Given the description of an element on the screen output the (x, y) to click on. 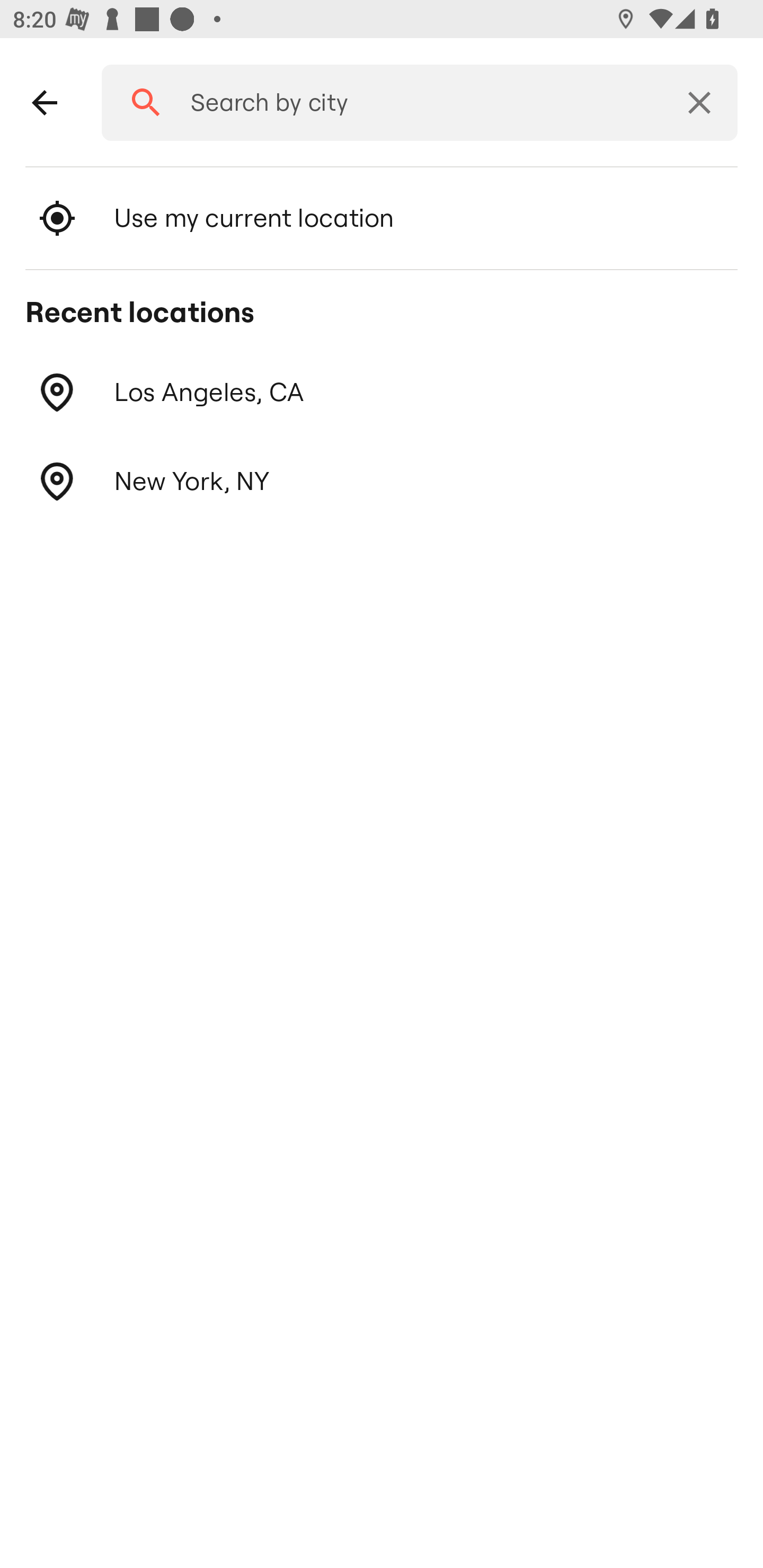
Back (44, 102)
Search by city (413, 102)
Clear (699, 102)
Use my current location (381, 218)
Los Angeles, CA (381, 392)
New York, NY (381, 481)
